Given the description of an element on the screen output the (x, y) to click on. 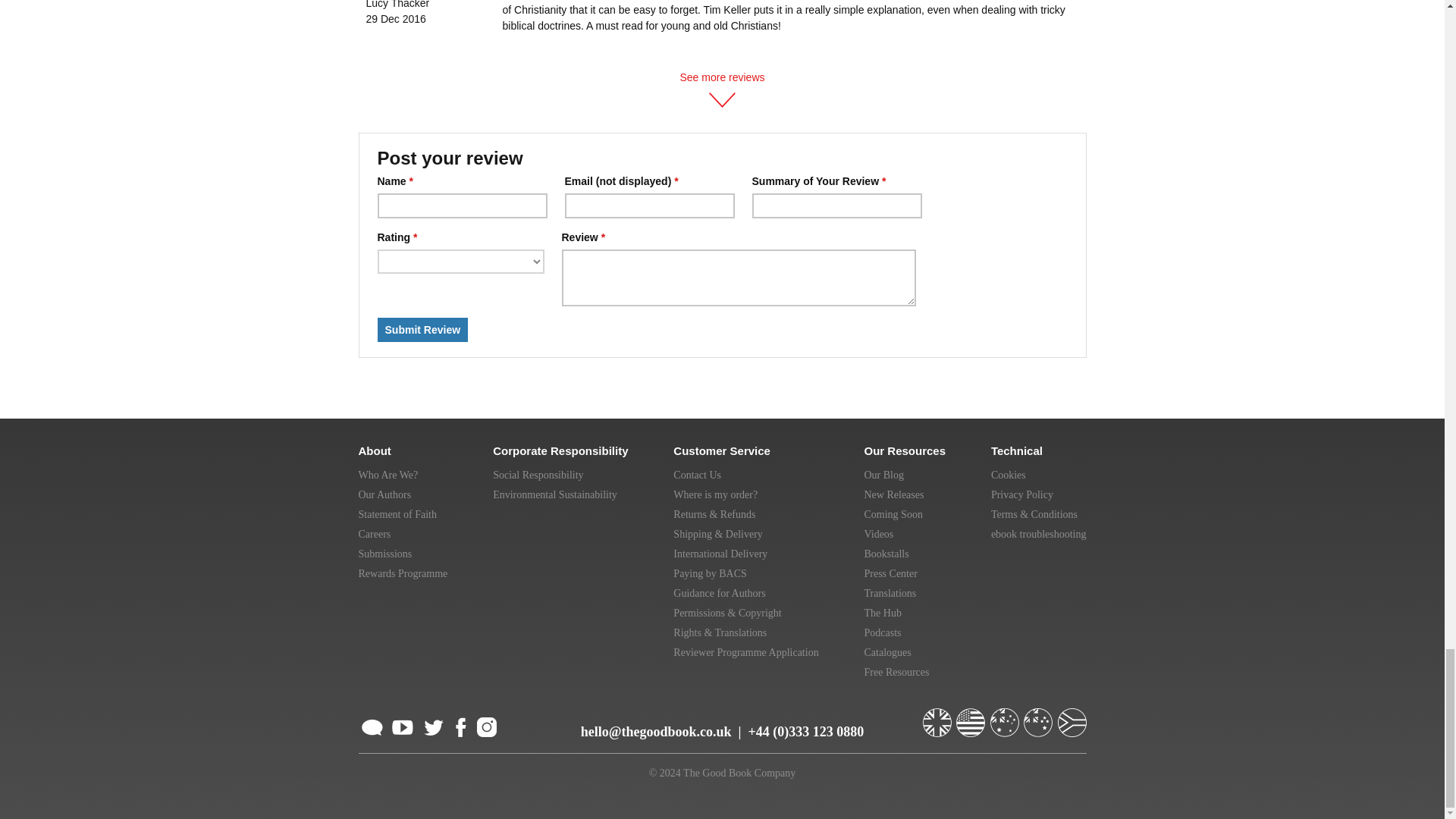
Go to Australia Website (1006, 715)
Go to UK Website (937, 715)
Go to US Website (972, 715)
Submit Review (422, 329)
Go to New Zealand Website (1039, 715)
Go to South Africa Website (1071, 715)
Subscribe to feed (371, 725)
